Given the description of an element on the screen output the (x, y) to click on. 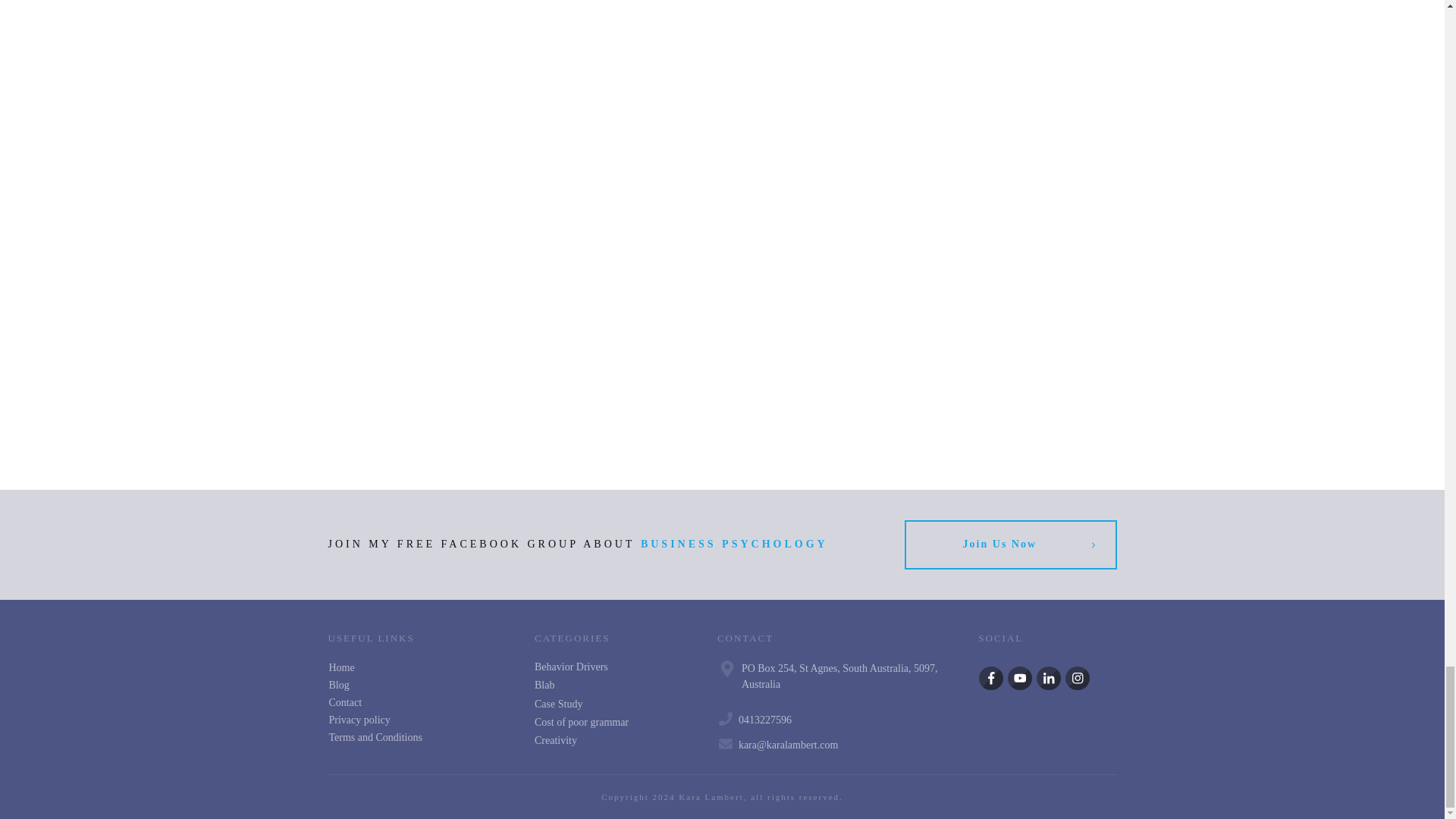
Home (342, 667)
Join Us Now (1010, 544)
Cost of poor grammar (581, 722)
Blog (339, 685)
Contact (345, 702)
Terms and Conditions (375, 737)
Behavior Drivers (571, 667)
Case Study (558, 704)
Privacy policy (359, 719)
Blab (544, 685)
Creativity (555, 740)
